Given the description of an element on the screen output the (x, y) to click on. 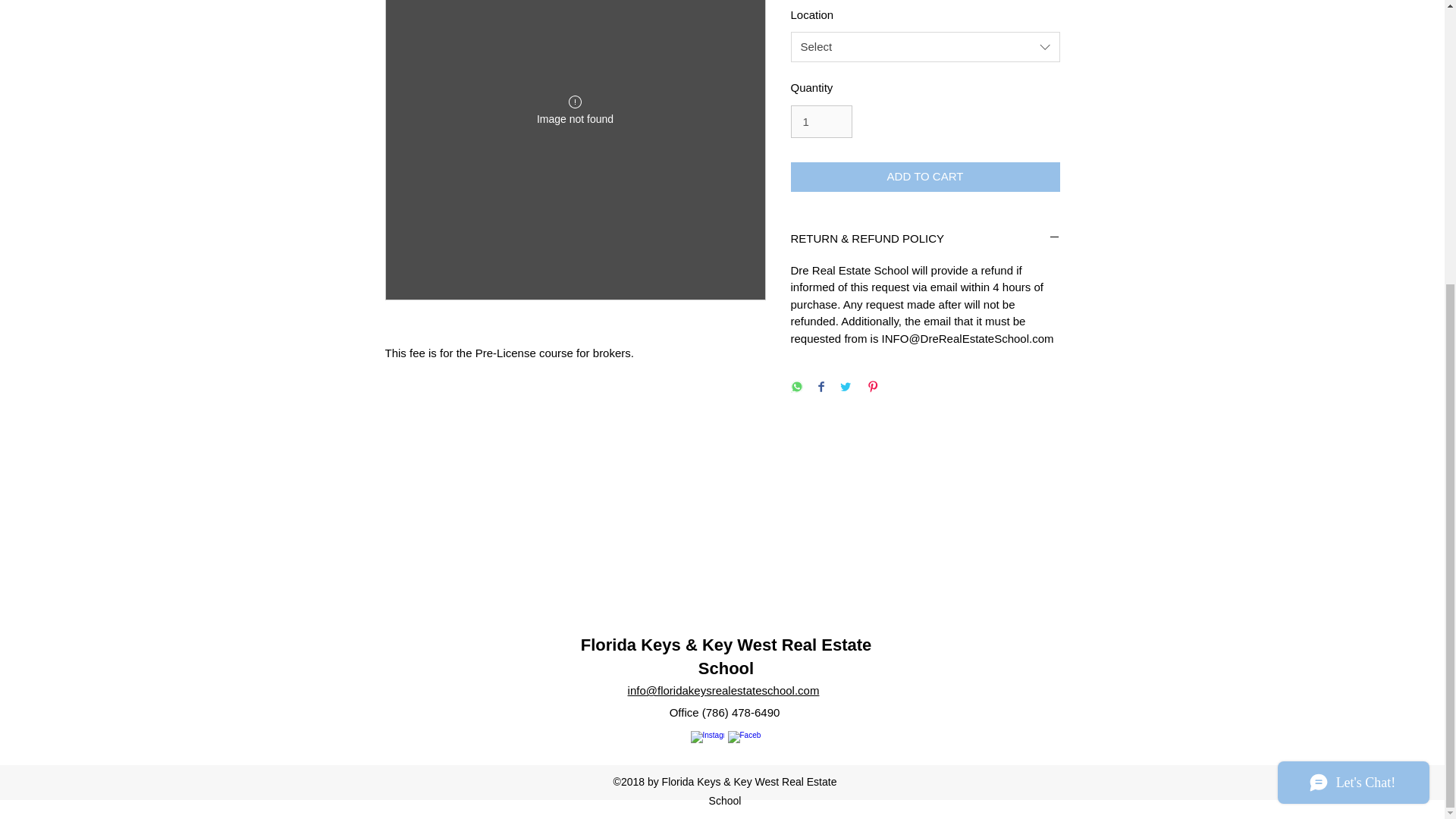
Select (924, 46)
ADD TO CART (924, 176)
1 (820, 121)
